Given the description of an element on the screen output the (x, y) to click on. 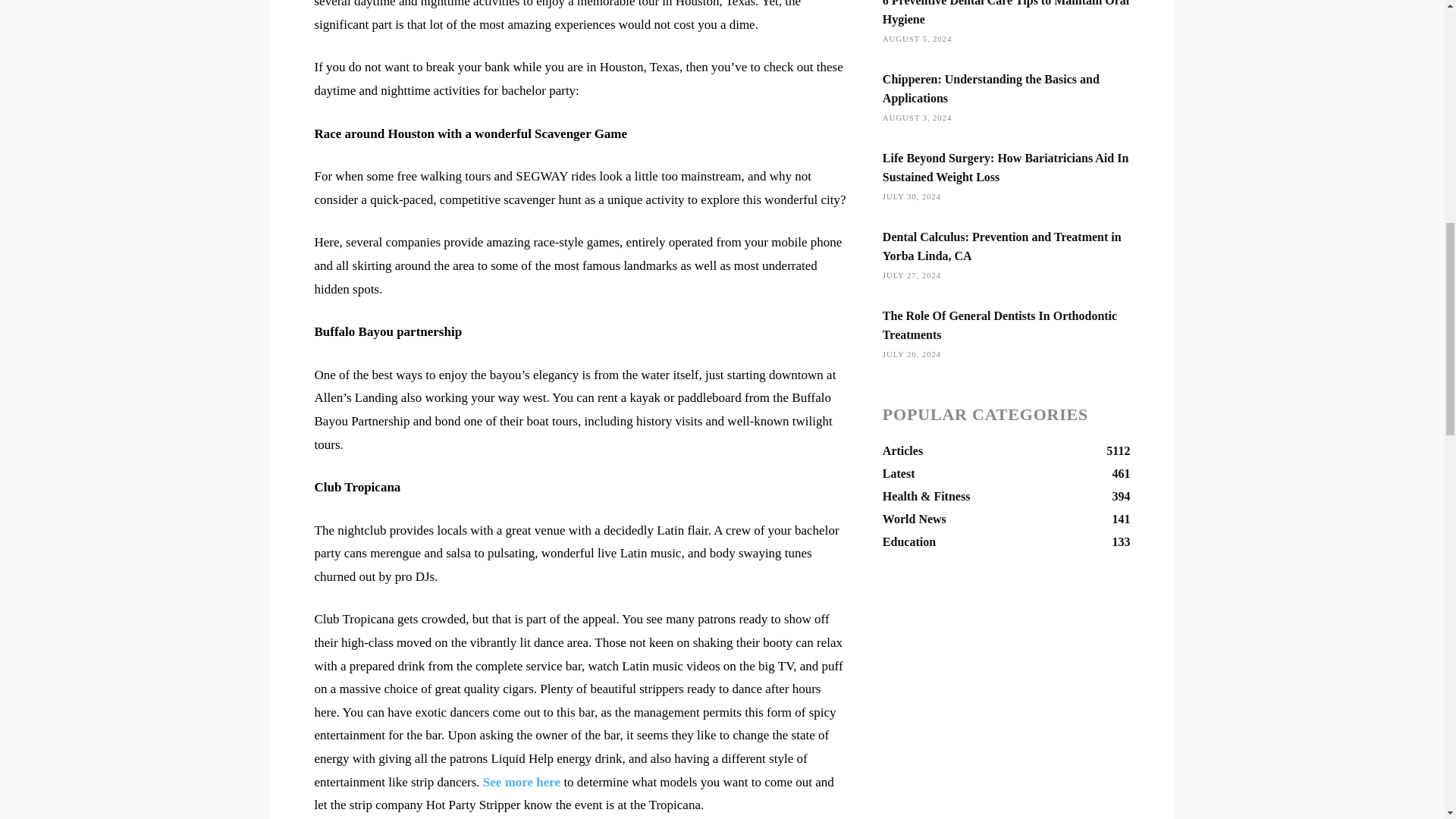
Dental Calculus: Prevention and Treatment in Yorba Linda, CA (1001, 246)
Dental Calculus: Prevention and Treatment in Yorba Linda, CA (1001, 246)
The Role Of General Dentists In Orthodontic Treatments (999, 325)
Chipperen: Understanding the Basics and Applications (990, 88)
6 Preventive Dental Care Tips to Maintain Oral Hygiene (1005, 12)
See more here (521, 781)
6 Preventive Dental Care Tips to Maintain Oral Hygiene (1006, 450)
